Given the description of an element on the screen output the (x, y) to click on. 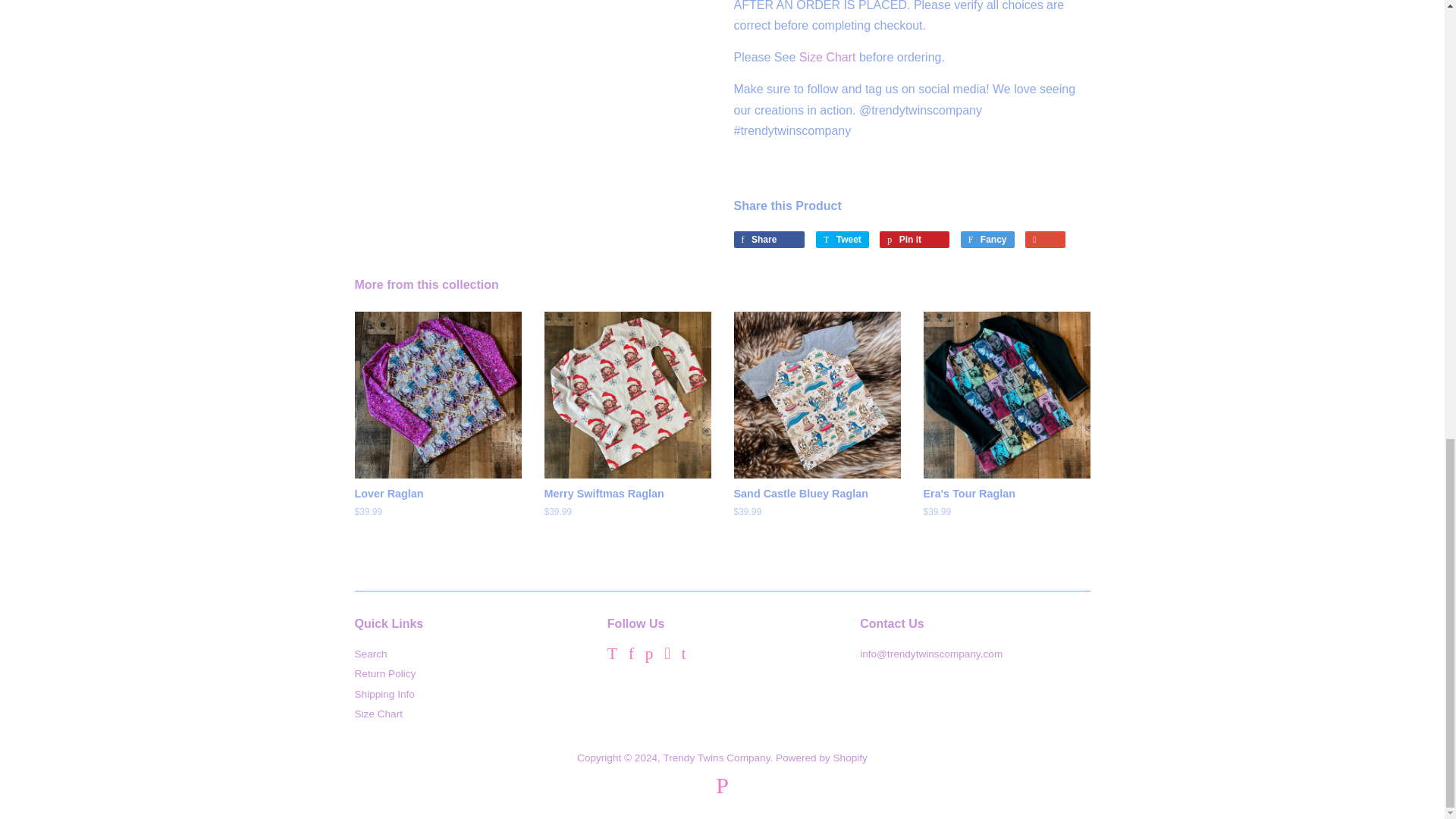
Trendy Twins Company on Facebook (630, 655)
Trendy Twins Company on Tumblr (683, 655)
Trendy Twins Company on Twitter (612, 655)
Trendy Twins Company on Instagram (666, 655)
Trendy Twins Company on Pinterest (649, 655)
